Given the description of an element on the screen output the (x, y) to click on. 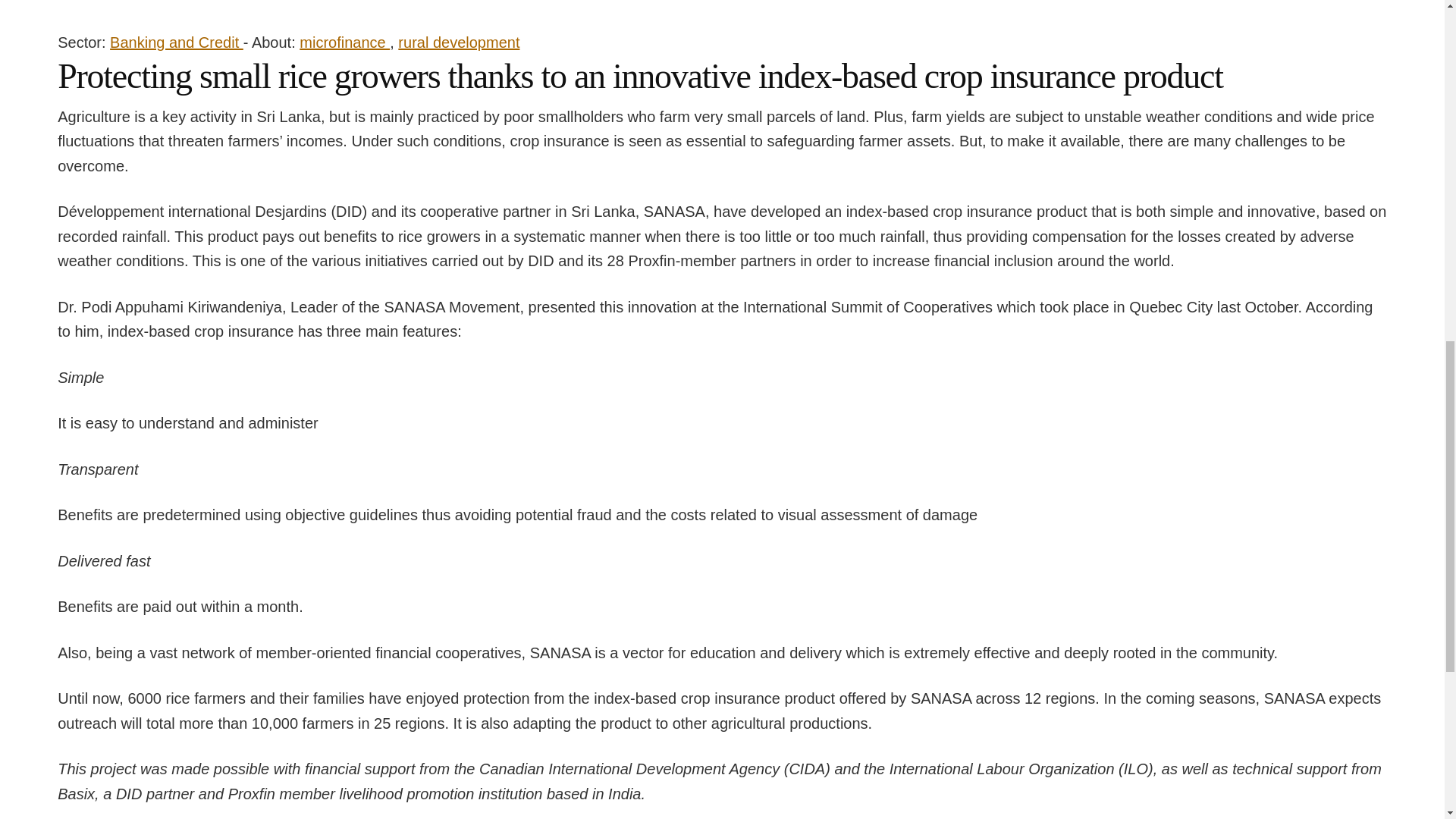
Banking and Credit (176, 42)
rural development (458, 42)
microfinance (344, 42)
